Given the description of an element on the screen output the (x, y) to click on. 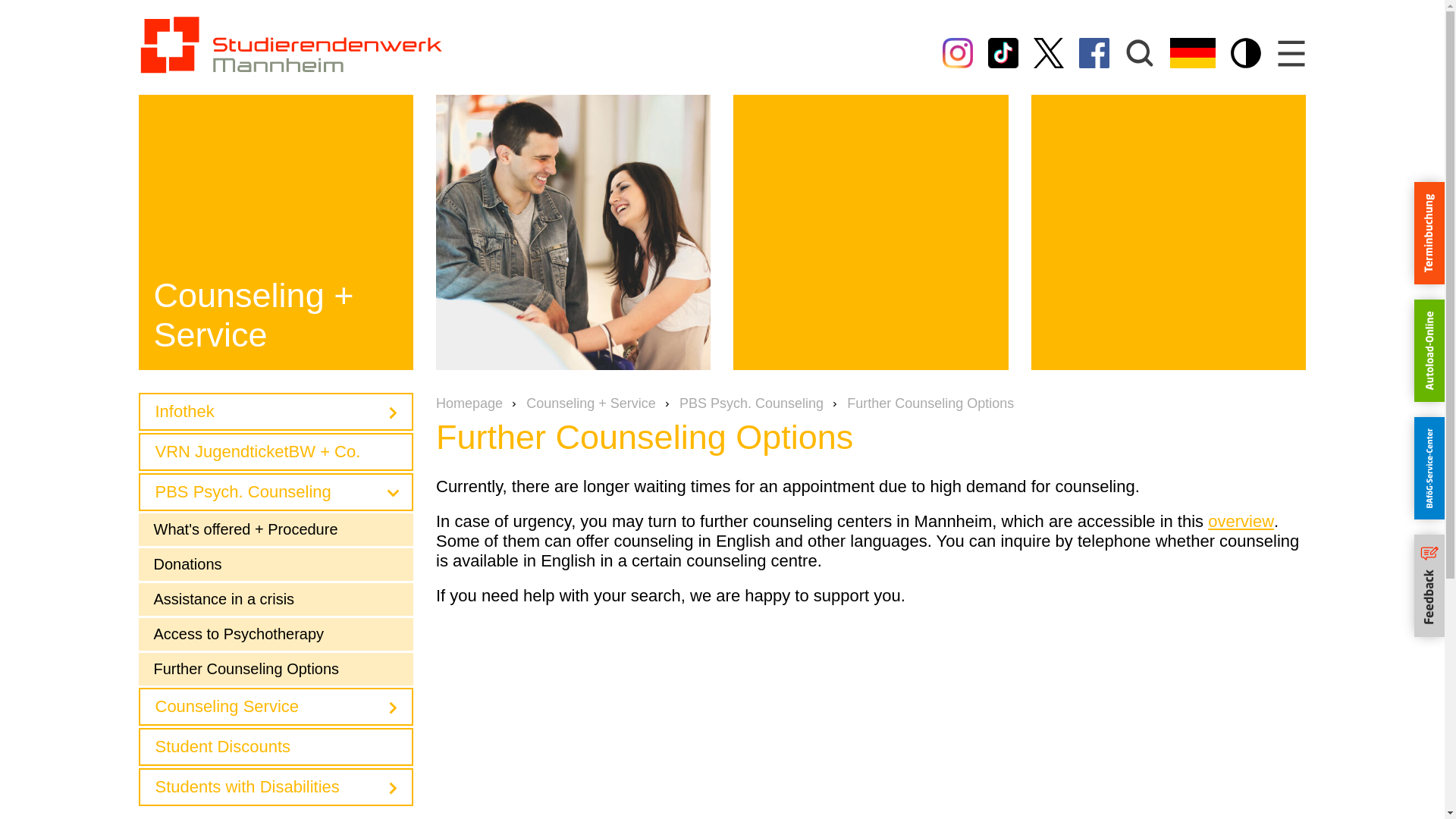
Zur X-Seite wechseln (1047, 52)
Zur TikTok-Seite wechseln (1002, 52)
Goto Search page (1139, 52)
Zum Kontrastmodus wechseln (1245, 52)
Go to the German website (1191, 52)
Go to Facebook page (1093, 52)
Go to the Instagram page (957, 52)
